Given the description of an element on the screen output the (x, y) to click on. 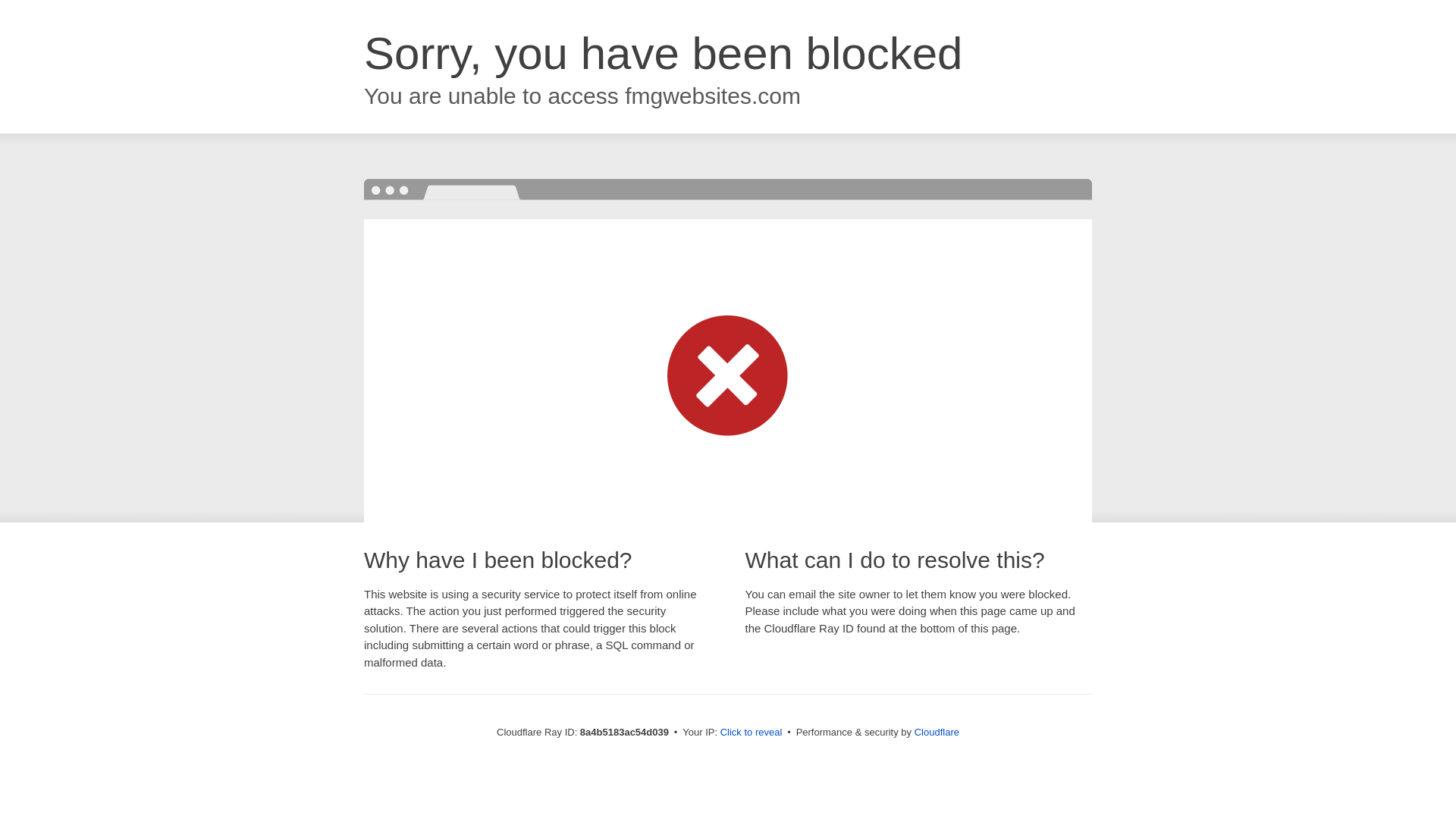
Click to reveal (751, 732)
Cloudflare (936, 731)
